Given the description of an element on the screen output the (x, y) to click on. 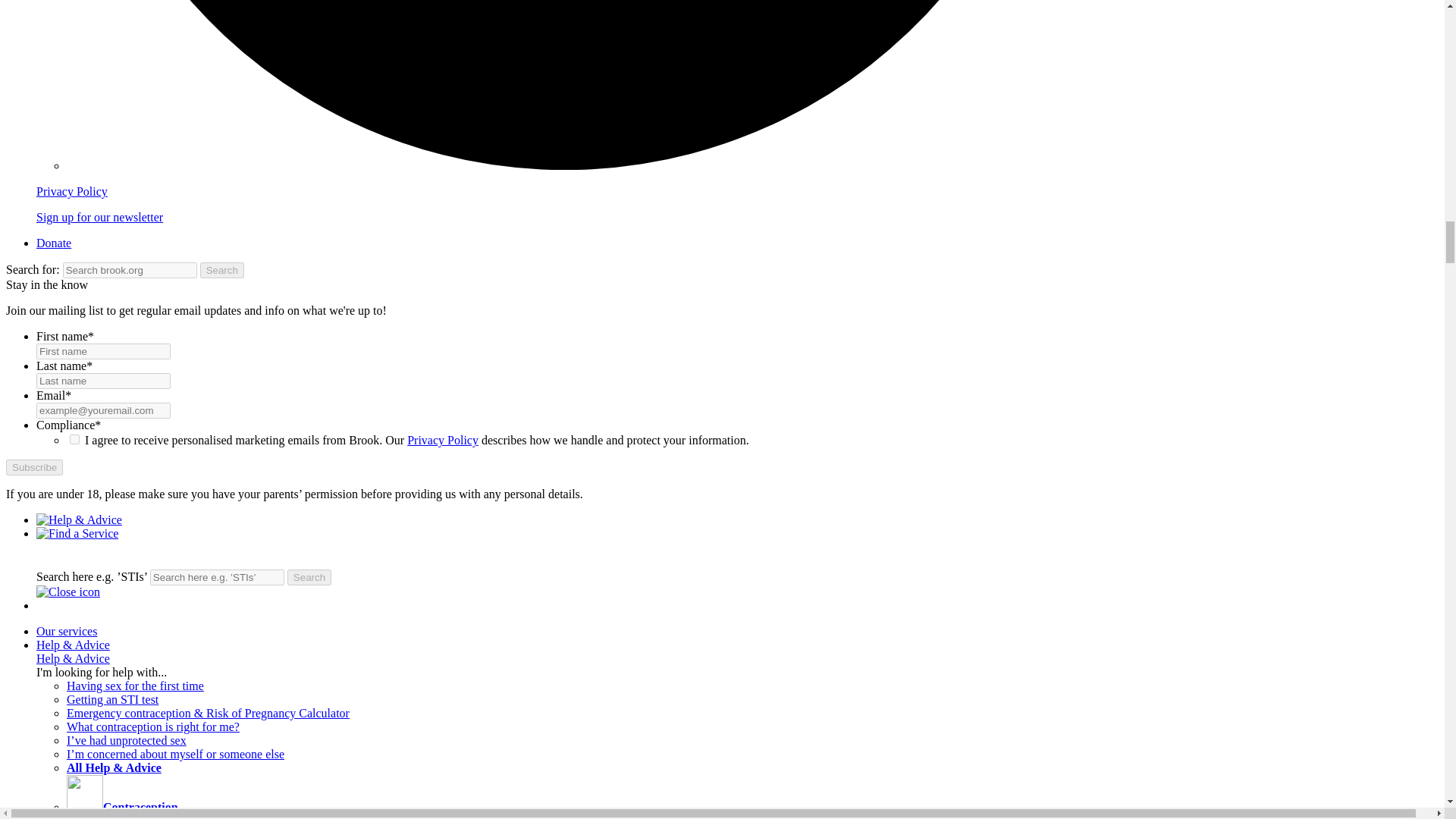
Yes (74, 439)
Search (222, 270)
Search (222, 270)
Search (308, 577)
Search (308, 577)
Subscribe (33, 467)
